Given the description of an element on the screen output the (x, y) to click on. 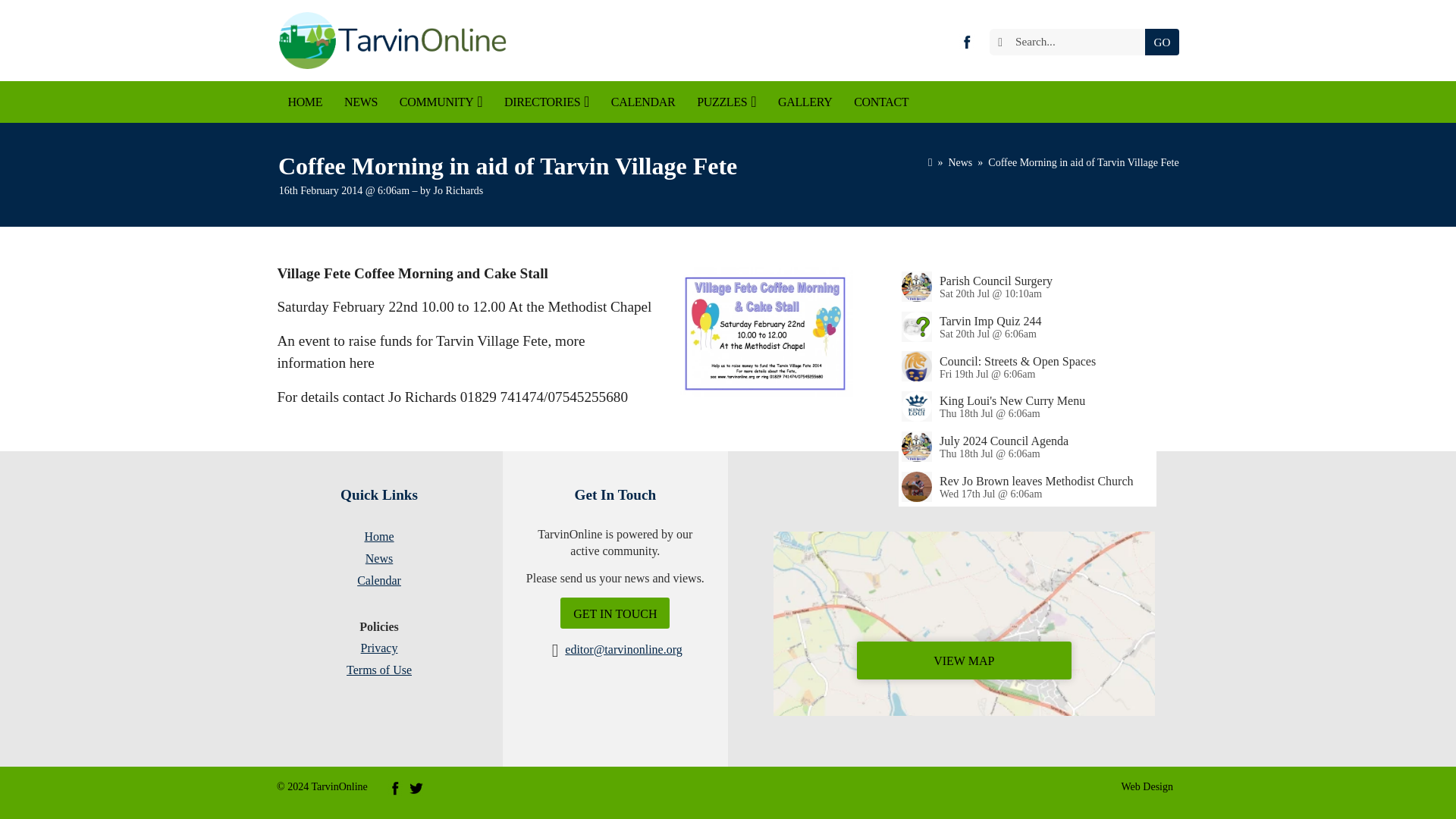
CALENDAR (642, 101)
Search... (1070, 41)
PUZZLES (726, 101)
Tarvin Online Home (391, 40)
DIRECTORIES (546, 101)
NEWS (360, 101)
HOME (304, 101)
CONTACT (881, 101)
Visit our X Feed (416, 787)
COMMUNITY (440, 101)
Visit our Facebook Page (395, 787)
GO (1161, 41)
News (959, 162)
Visit our Facebook Page (966, 41)
